Given the description of an element on the screen output the (x, y) to click on. 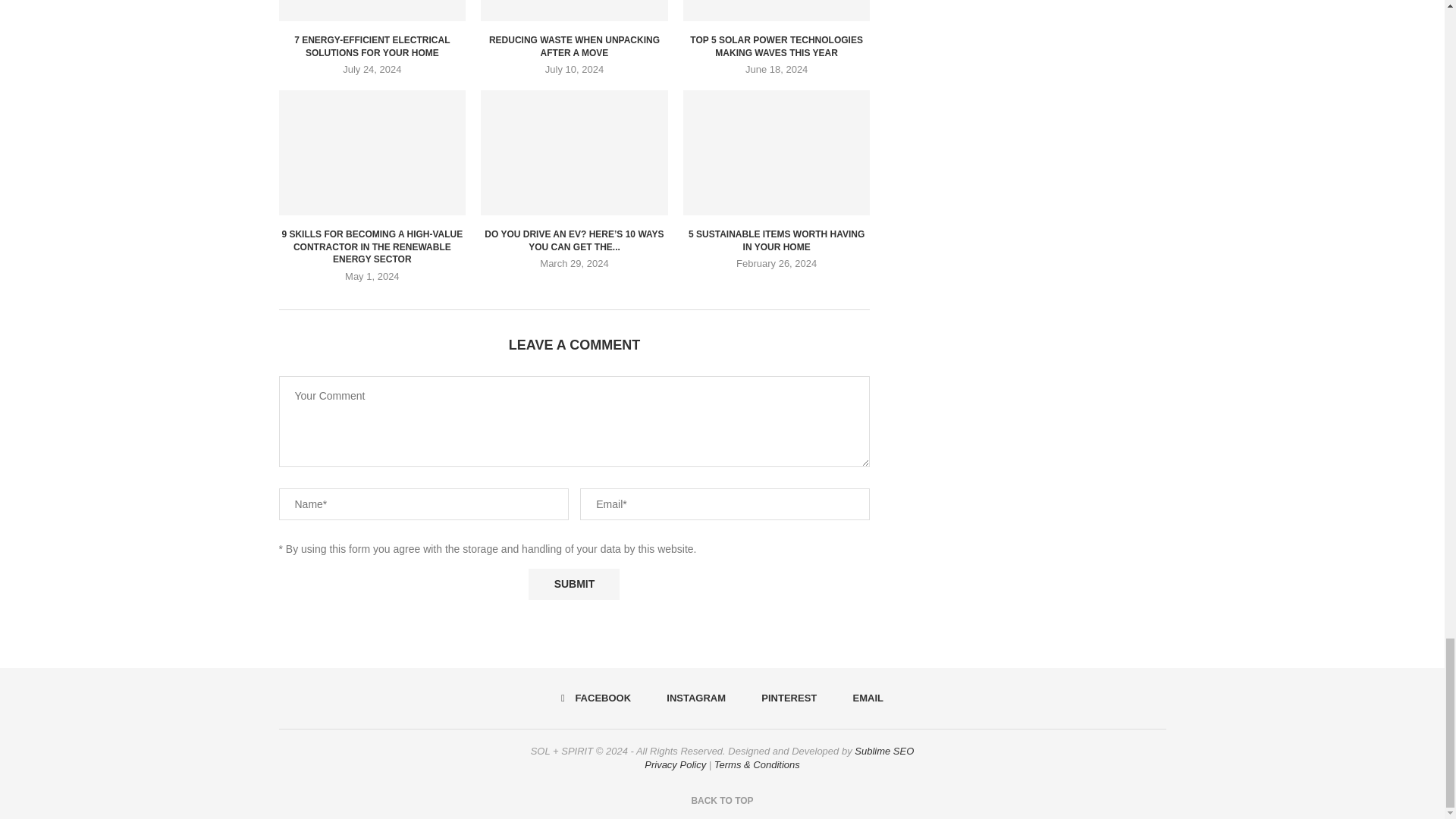
Submit (574, 583)
